Given the description of an element on the screen output the (x, y) to click on. 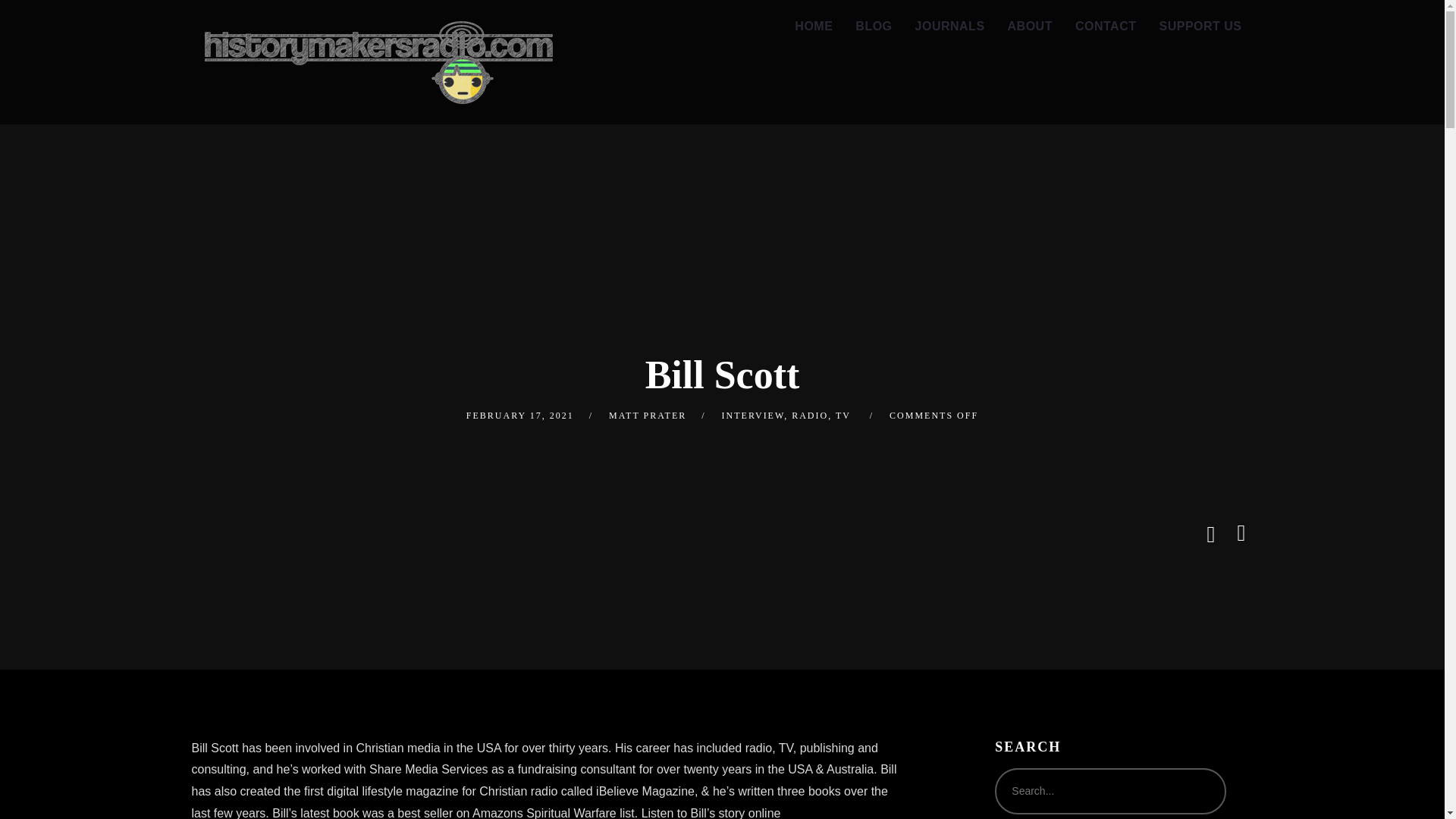
CONTACT (1106, 26)
JOURNALS (949, 26)
History Makers Radio (377, 62)
HOME (813, 26)
MATT PRATER (646, 415)
SUPPORT US (1199, 26)
Submit (32, 22)
BLOG (873, 26)
ABOUT (1029, 26)
